Given the description of an element on the screen output the (x, y) to click on. 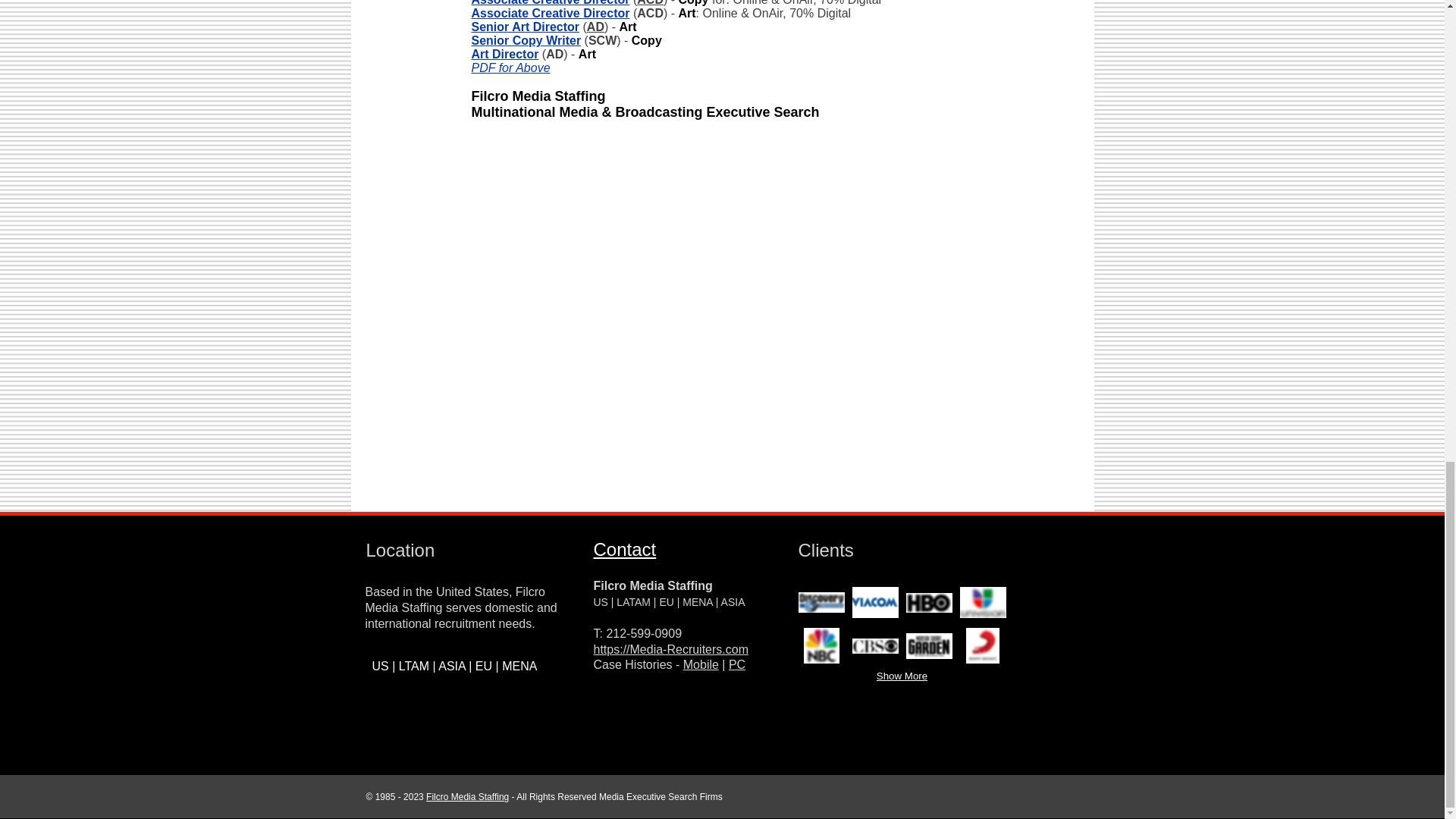
PDF for Above (510, 67)
ACD (650, 2)
Art Director (504, 53)
Senior Copy Writer (525, 40)
Associate Creative Director (550, 2)
AD (595, 26)
Senior Art Director (525, 26)
Associate Creative Director (550, 12)
